Given the description of an element on the screen output the (x, y) to click on. 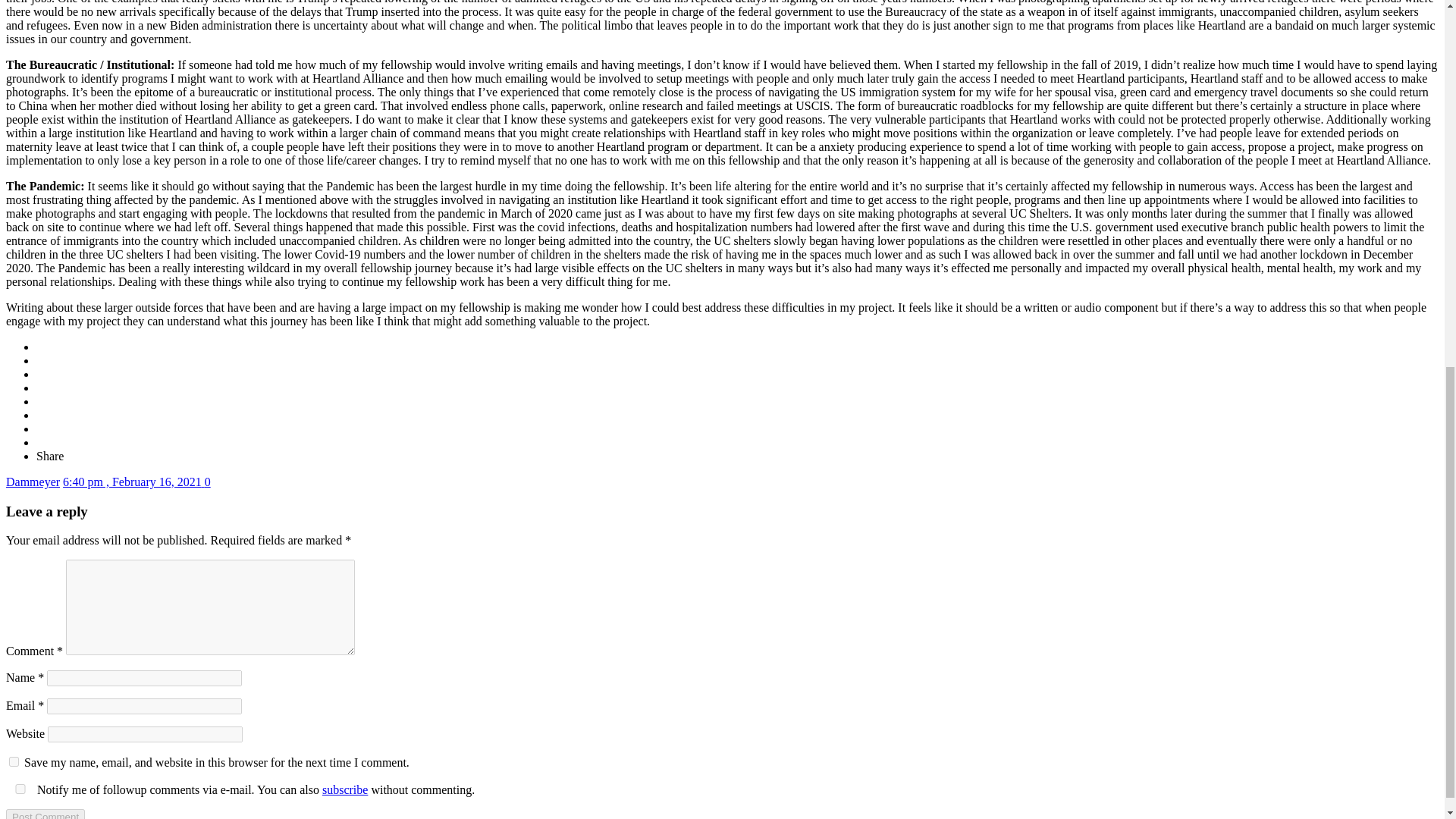
subscribe (344, 789)
Permalink to Arc of outside forces on me and my fellowship (133, 481)
Dammeyer (32, 481)
6:40 pm , February 16, 2021 (133, 481)
yes (13, 761)
yes (20, 788)
0 (208, 481)
